Given the description of an element on the screen output the (x, y) to click on. 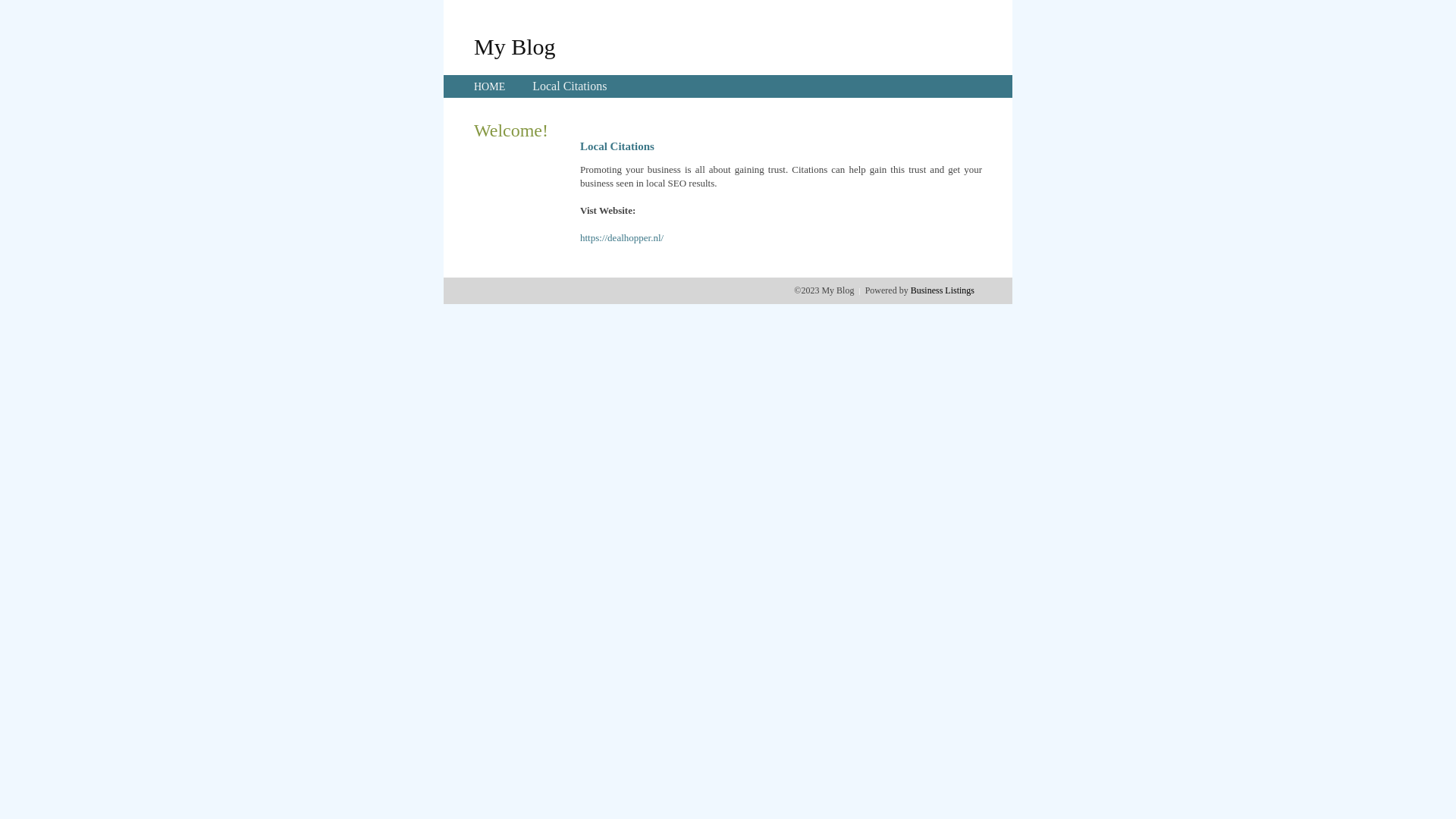
Business Listings Element type: text (942, 290)
My Blog Element type: text (514, 46)
https://dealhopper.nl/ Element type: text (621, 237)
Local Citations Element type: text (569, 85)
HOME Element type: text (489, 86)
